Given the description of an element on the screen output the (x, y) to click on. 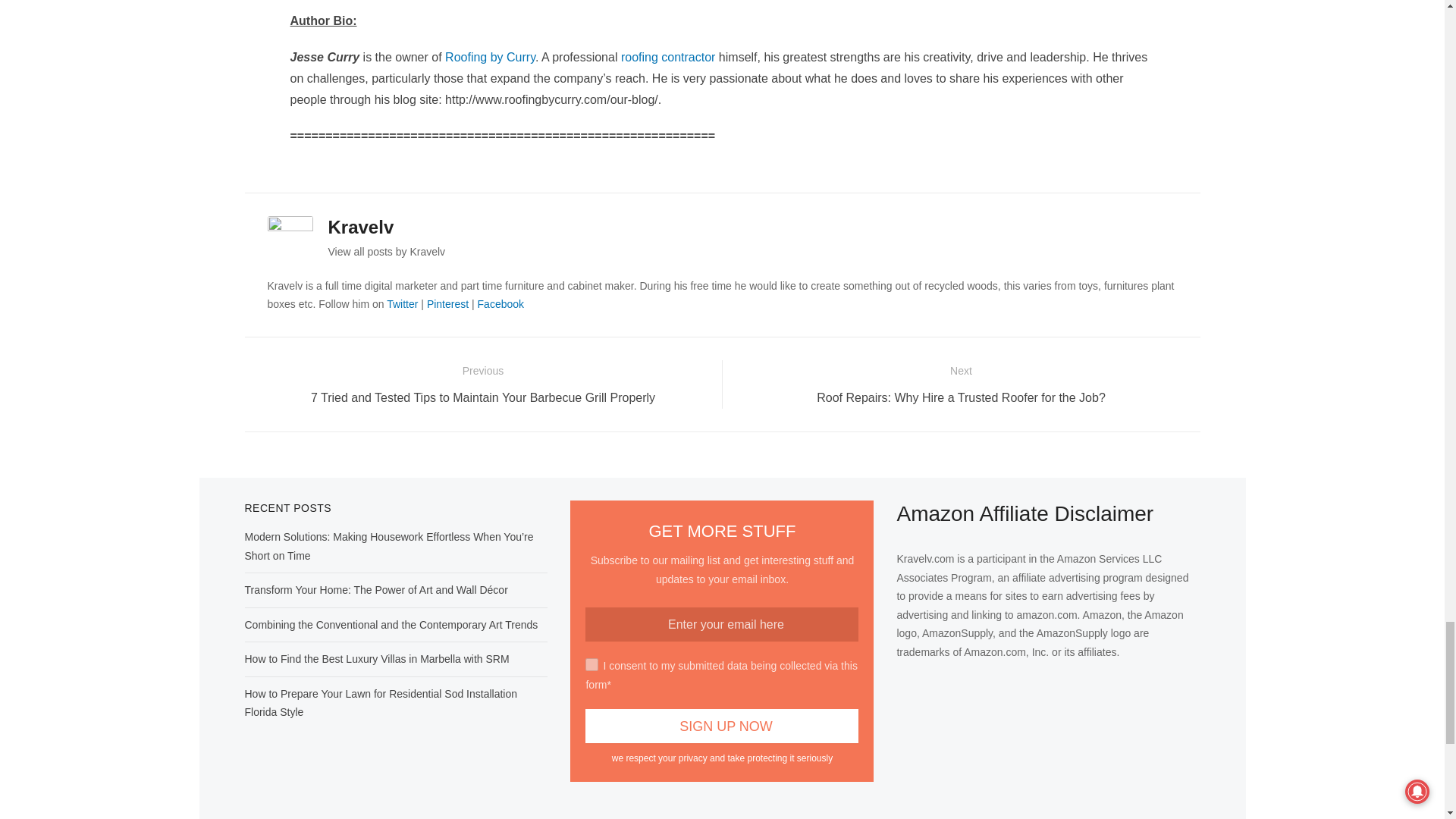
roofing contractor (668, 56)
Sign Up Now (722, 725)
on (591, 664)
Roofing by Curry (490, 56)
